Given the description of an element on the screen output the (x, y) to click on. 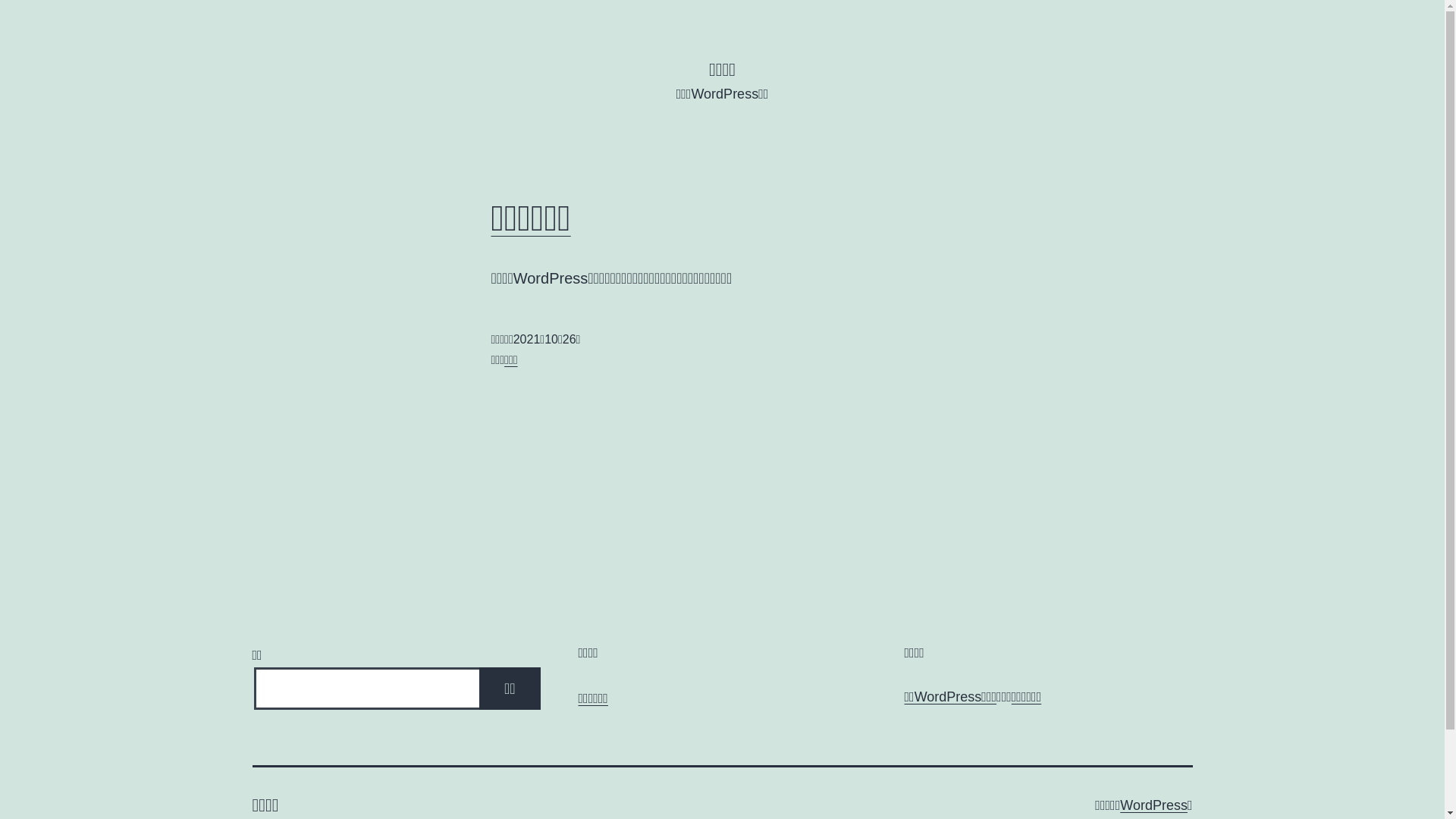
WordPress Element type: text (1153, 804)
